Given the description of an element on the screen output the (x, y) to click on. 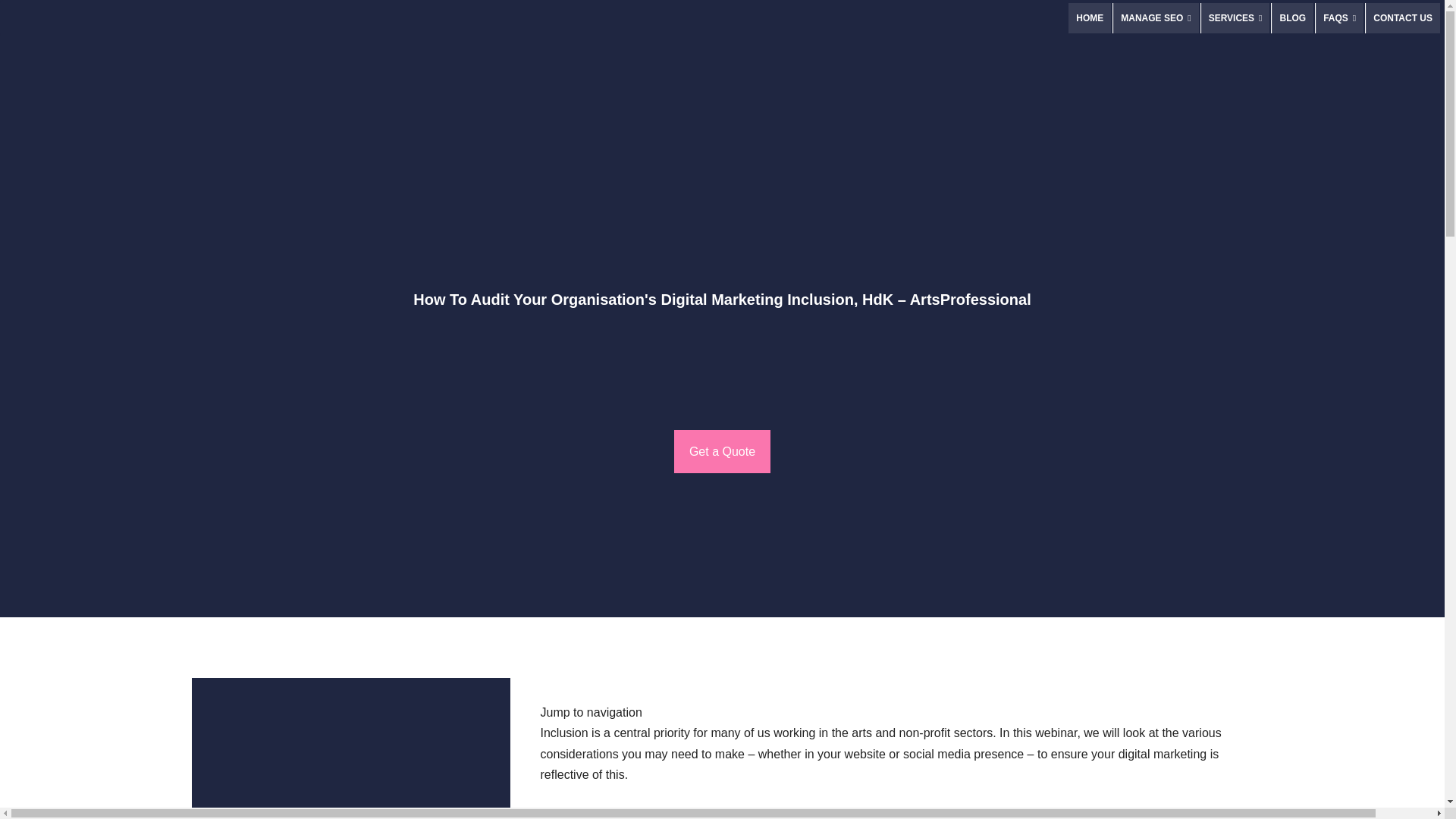
HOME (1089, 18)
SEO Project Management (1155, 18)
SEO Services (1235, 18)
MANAGE SEO (1155, 18)
SERVICES (1235, 18)
SEO Agency Dublin (1089, 18)
